Given the description of an element on the screen output the (x, y) to click on. 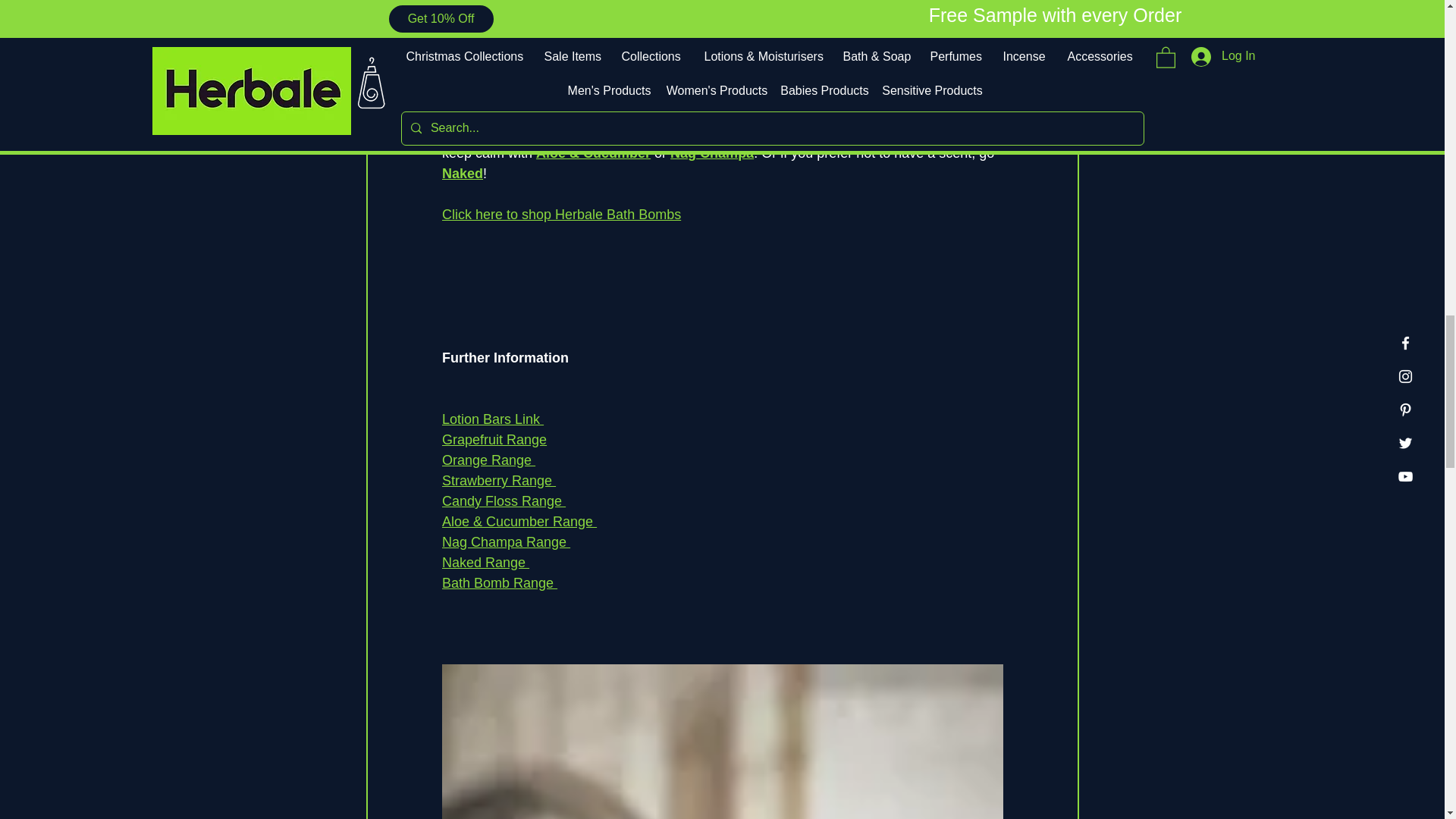
Naked (461, 173)
Nag Champa (711, 152)
Lotion Bars Link  (492, 418)
Strawberry (639, 132)
Herbale Lotion Bars. (503, 50)
Grapefruit (818, 111)
Click here to shop Herbale Bath Bombs (560, 214)
Orange (899, 111)
Candy Floss (735, 132)
